Given the description of an element on the screen output the (x, y) to click on. 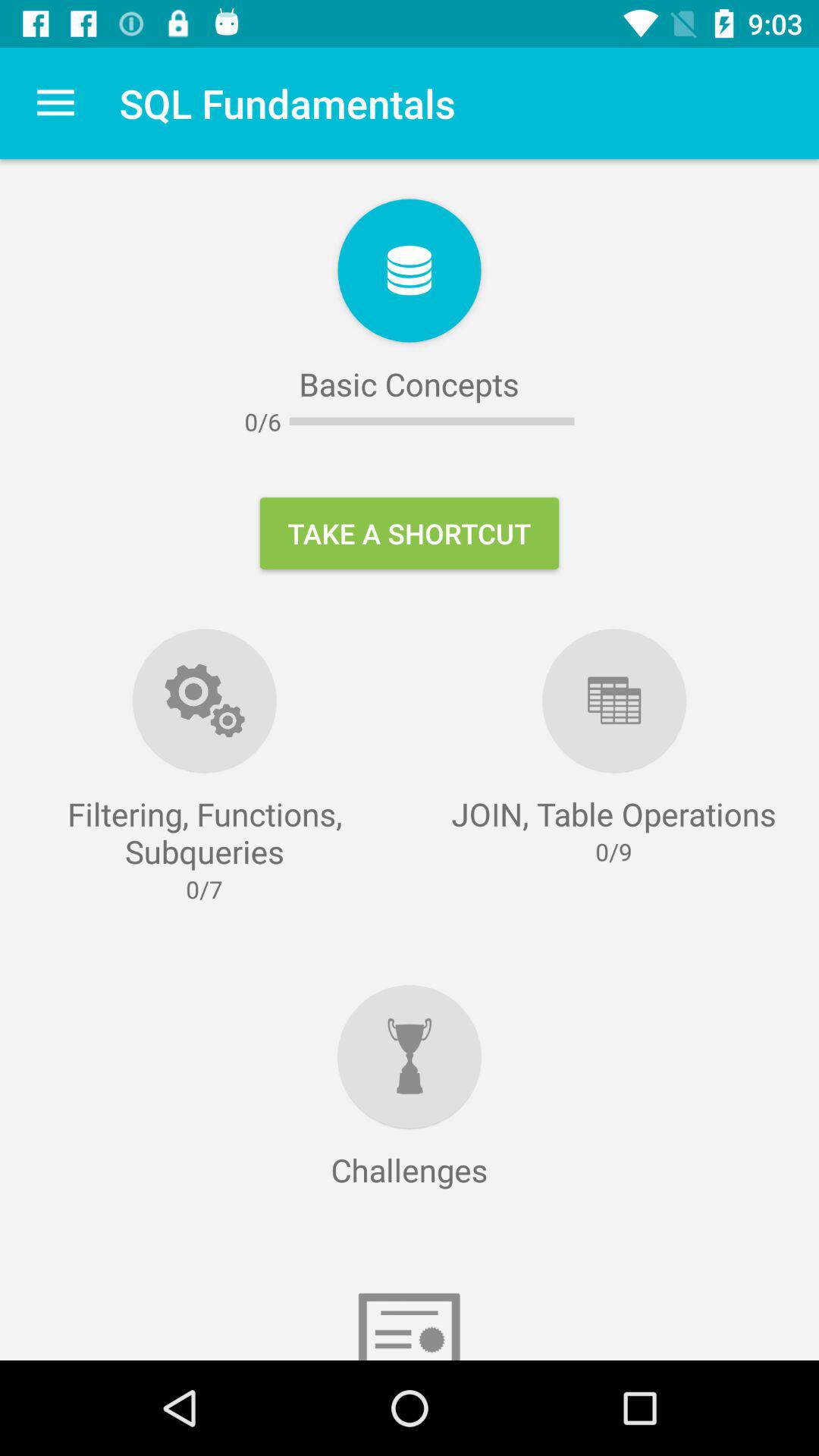
tap item to the left of the sql fundamentals item (55, 103)
